Given the description of an element on the screen output the (x, y) to click on. 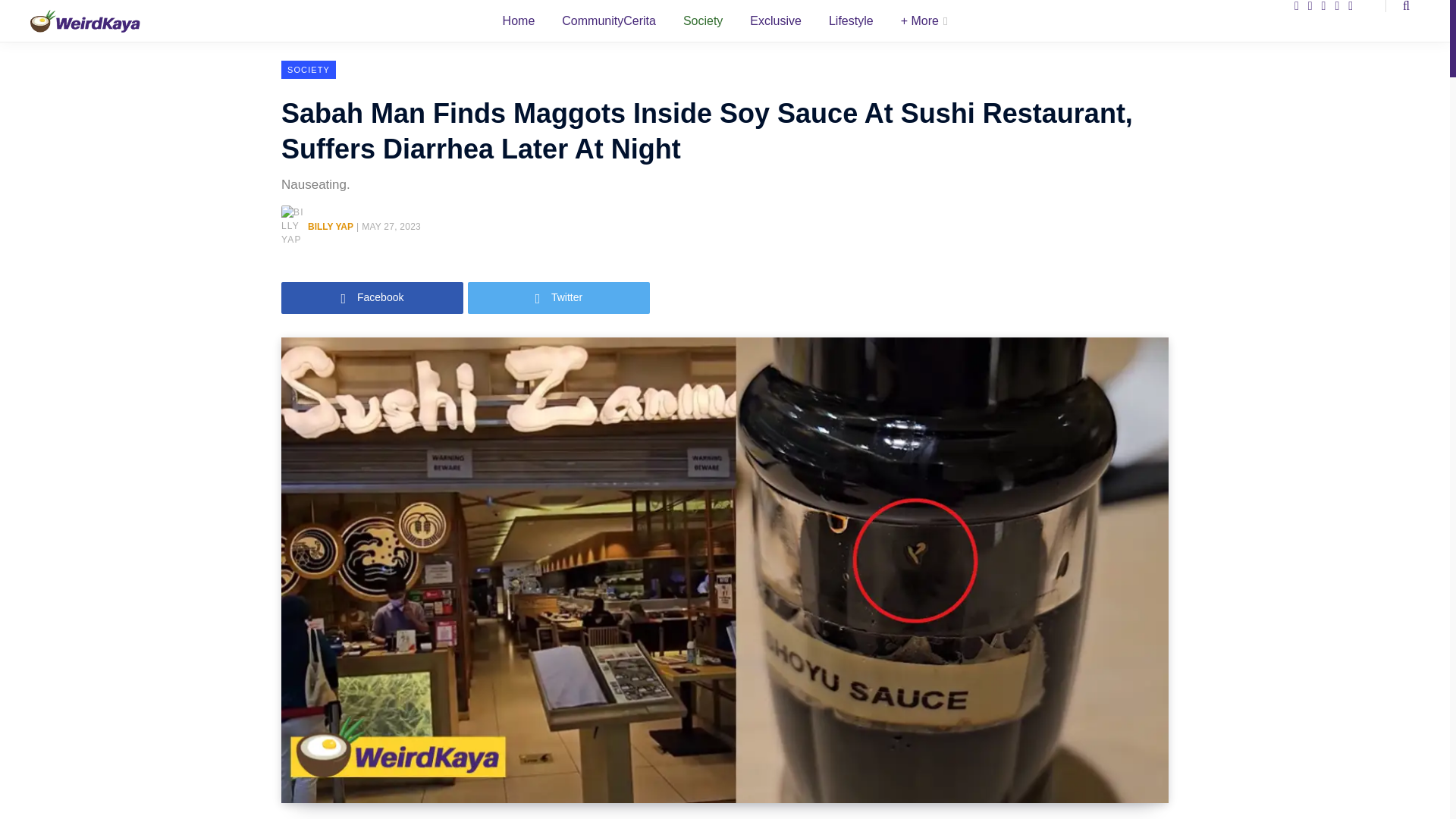
Home (518, 24)
Twitter (558, 296)
Search (1397, 6)
Billy Yap (330, 226)
BILLY YAP (330, 226)
SOCIETY (308, 69)
Twitter (558, 296)
Lifestyle (850, 22)
Facebook (372, 296)
Society (702, 23)
